Given the description of an element on the screen output the (x, y) to click on. 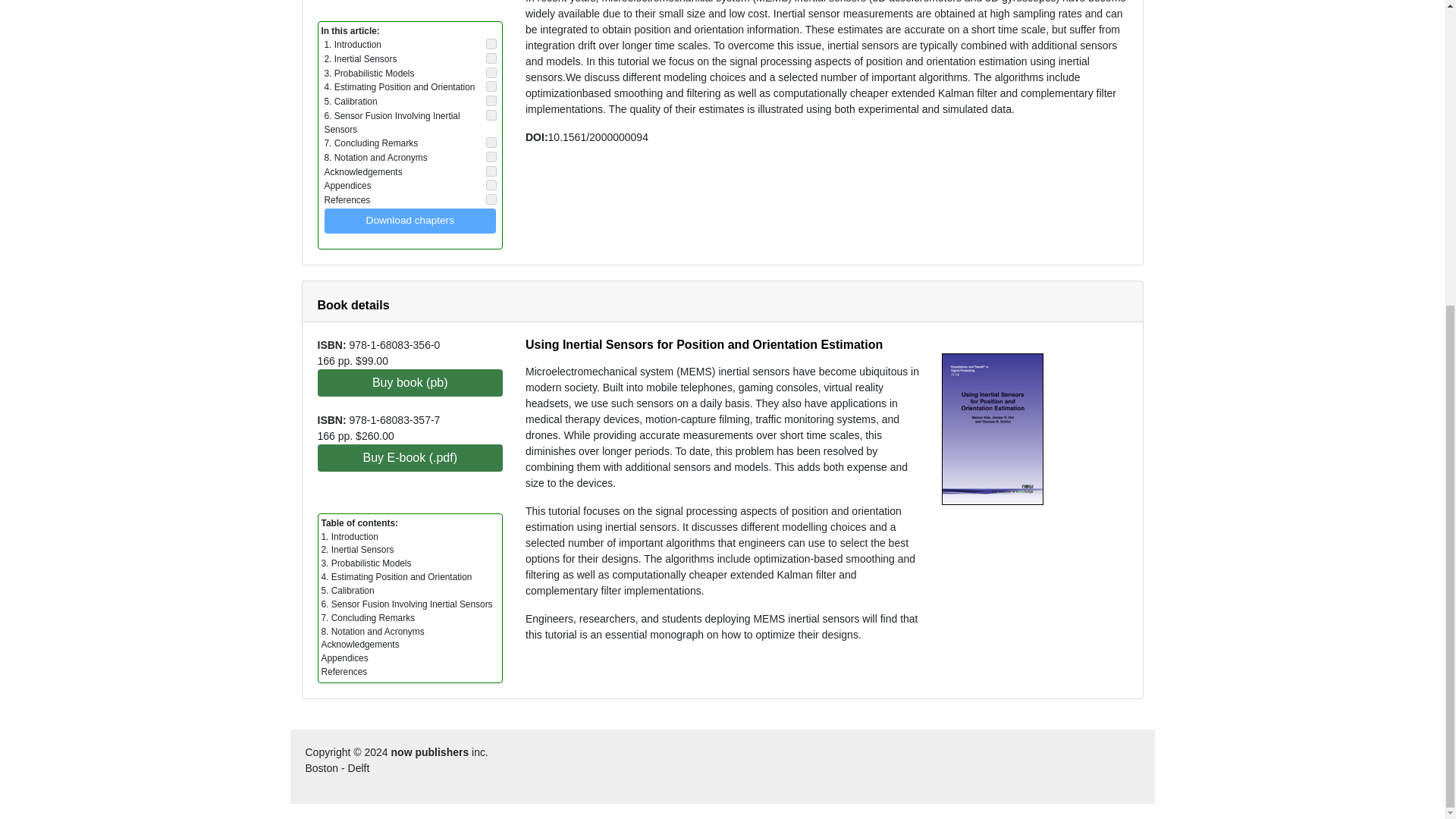
Download chapters (410, 220)
Book details (352, 305)
